Given the description of an element on the screen output the (x, y) to click on. 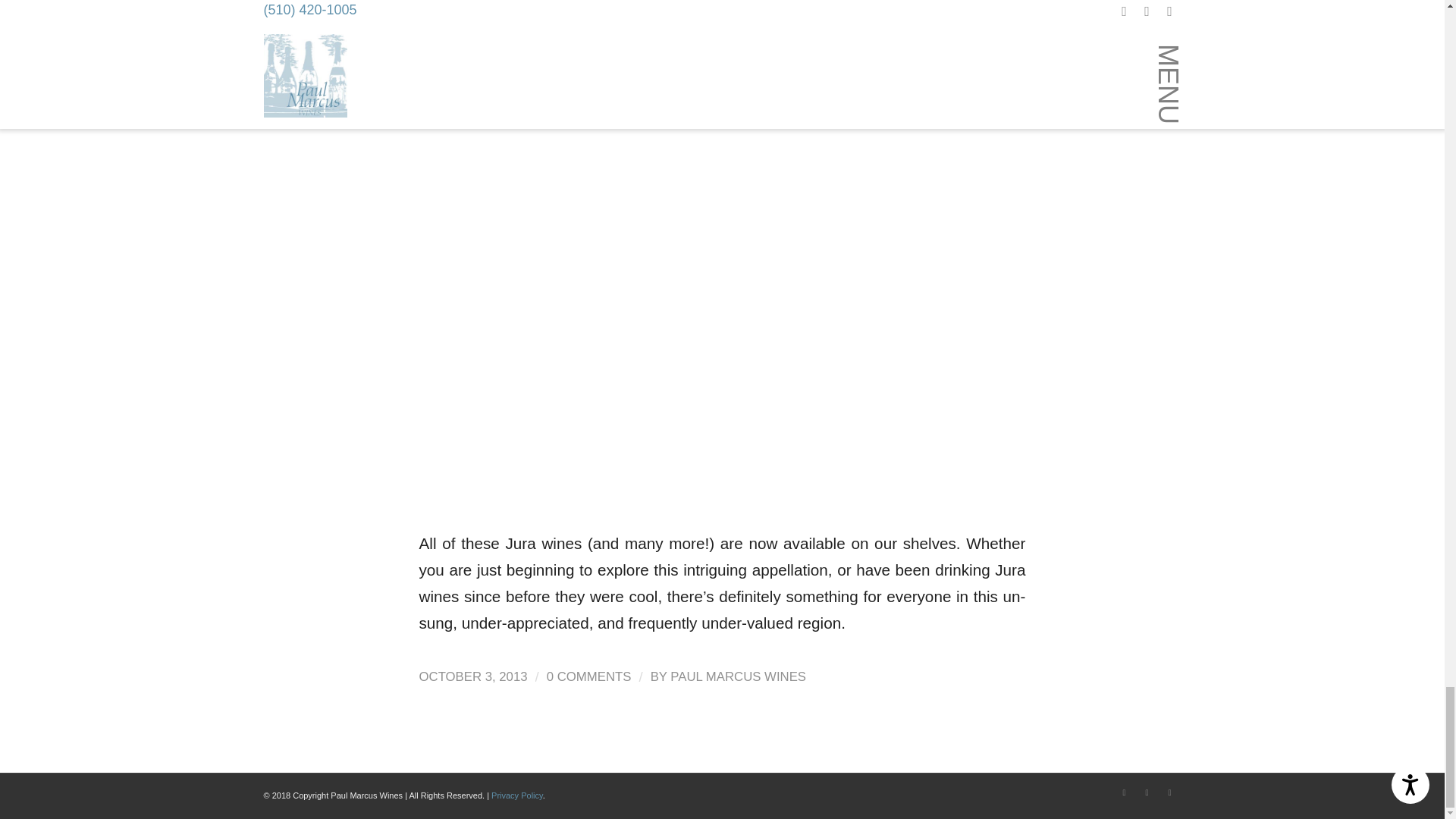
0 COMMENTS (589, 676)
Facebook (1124, 792)
Privacy Policy (517, 795)
Instagram (1146, 792)
Twitter (1169, 792)
